Given the description of an element on the screen output the (x, y) to click on. 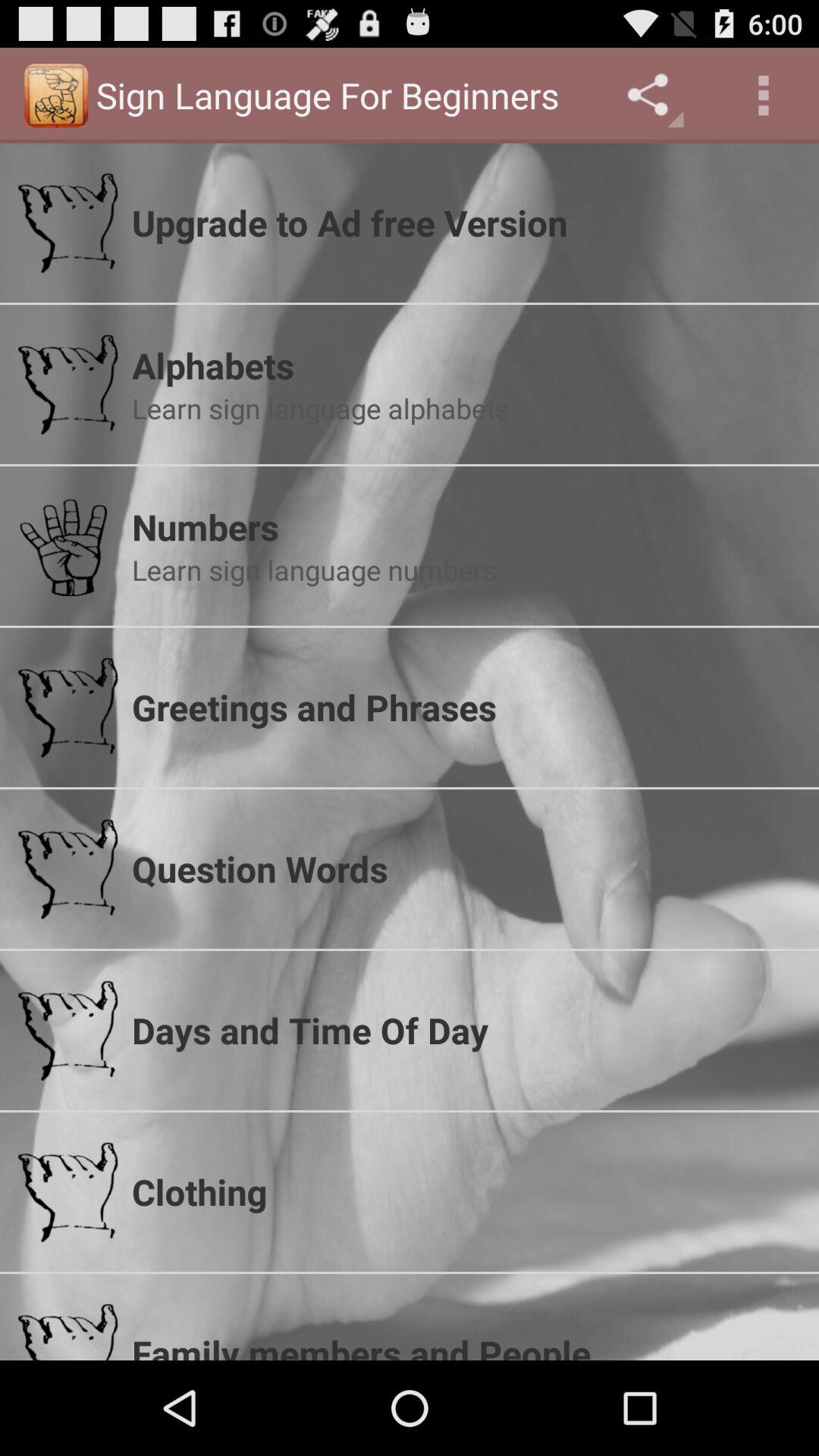
jump to the clothing app (465, 1191)
